Given the description of an element on the screen output the (x, y) to click on. 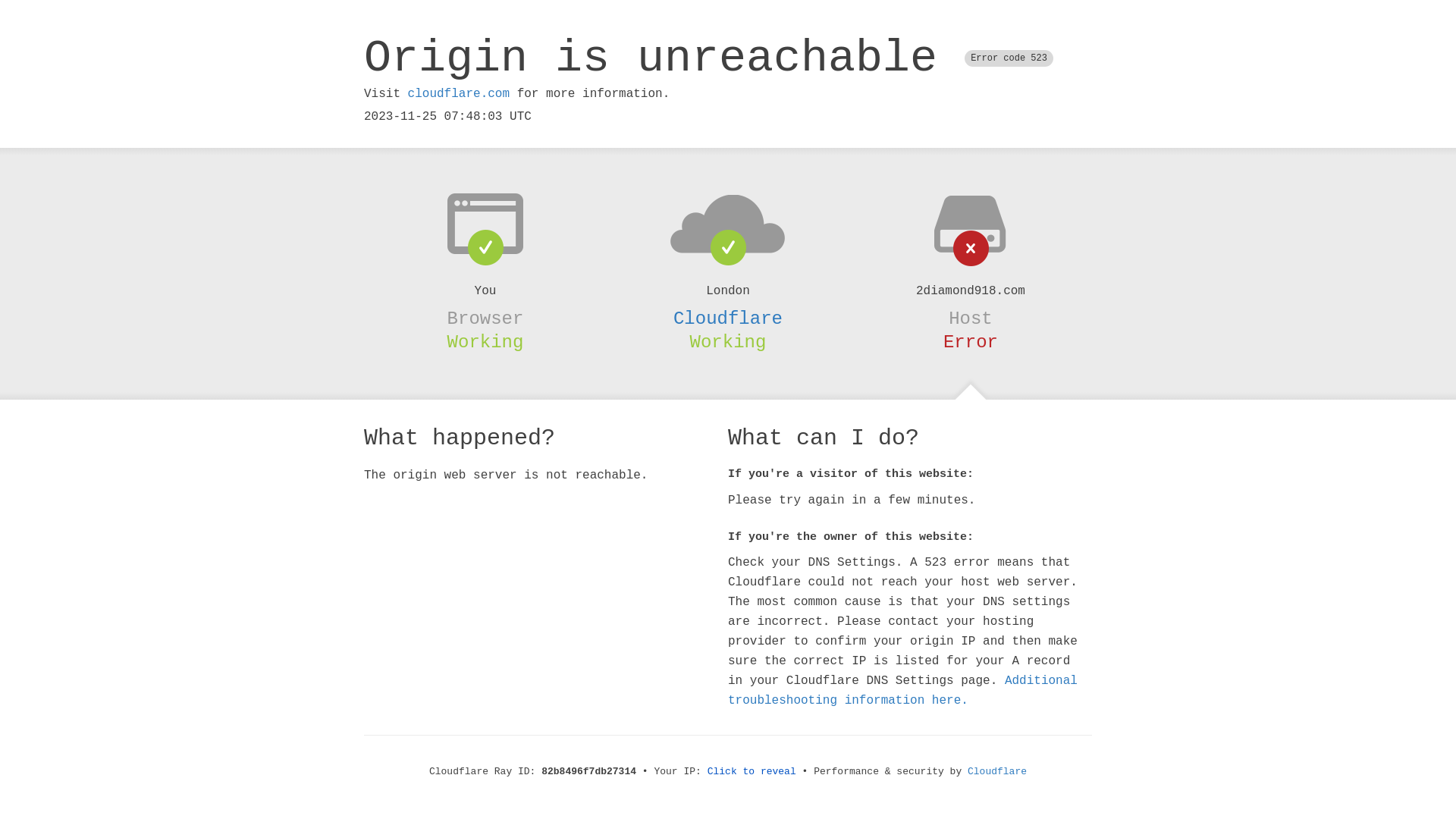
Click to reveal Element type: text (751, 771)
cloudflare.com Element type: text (458, 93)
Additional troubleshooting information here. Element type: text (902, 690)
Cloudflare Element type: text (727, 318)
Cloudflare Element type: text (996, 771)
